Given the description of an element on the screen output the (x, y) to click on. 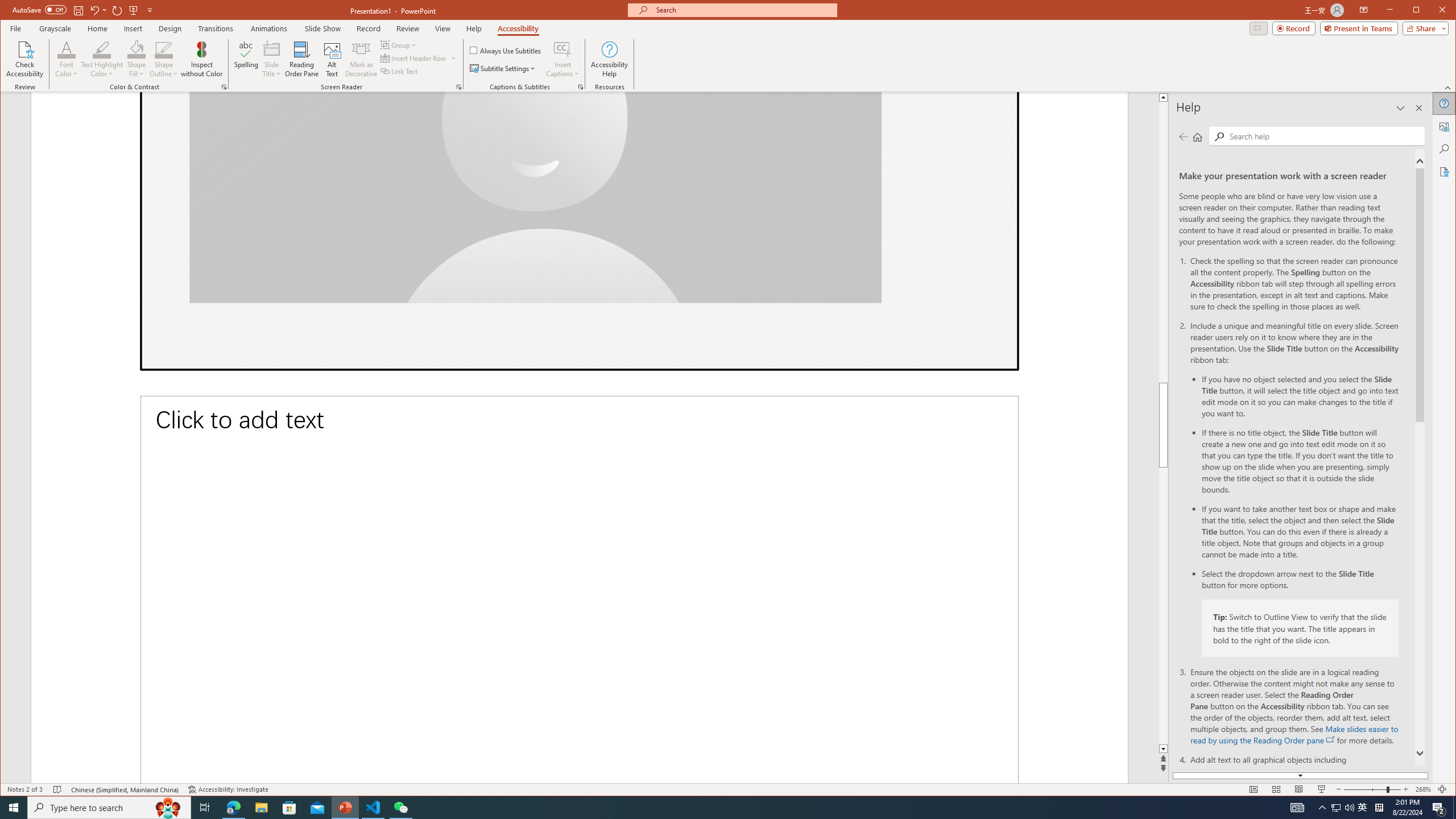
Color & Contrast (223, 86)
